Given the description of an element on the screen output the (x, y) to click on. 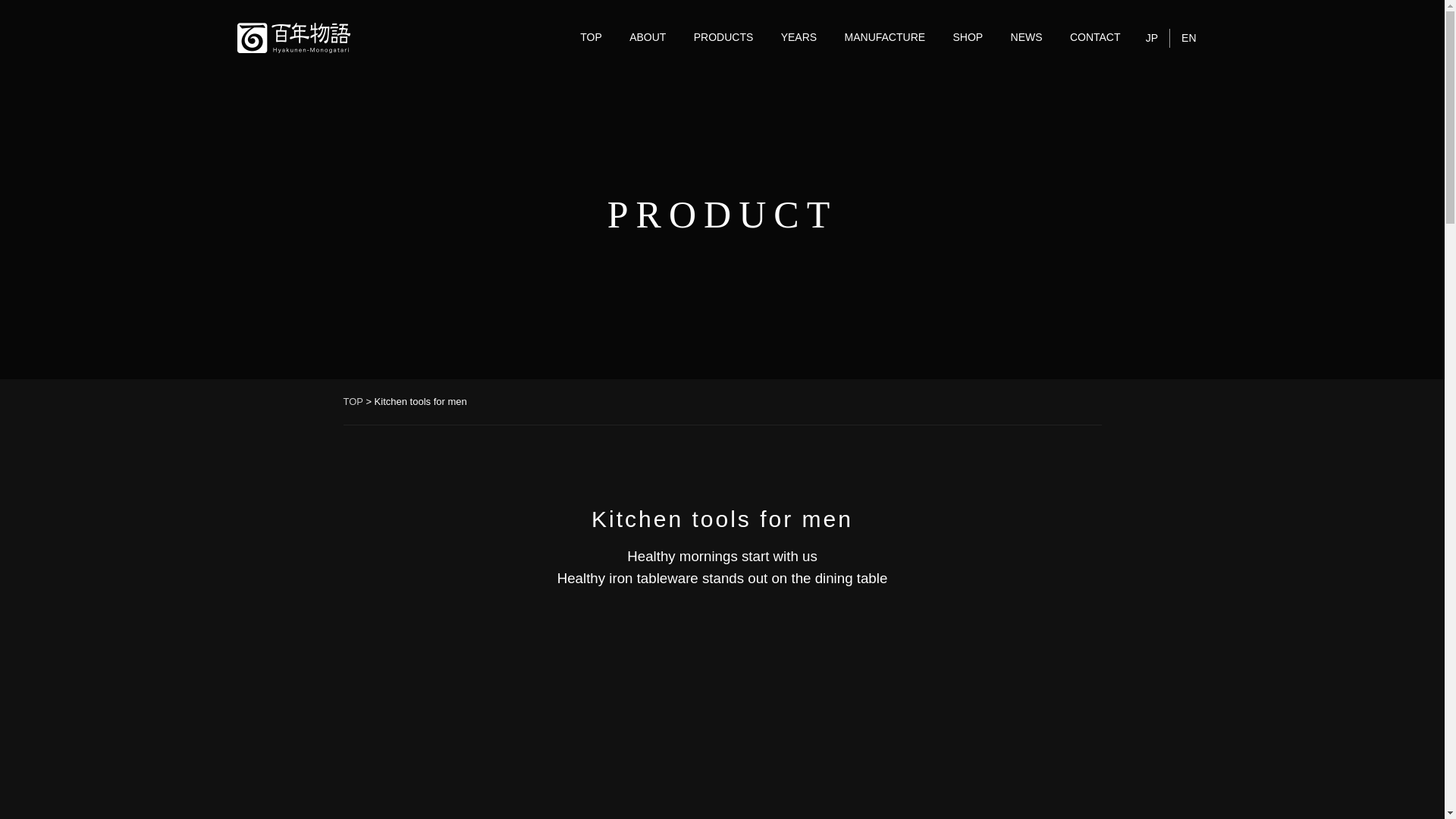
NEWS (1026, 37)
JP (1151, 37)
PRODUCTS (723, 37)
SHOP (967, 37)
TOP (352, 401)
ABOUT (647, 37)
MANUFACTURE (885, 37)
TOP (590, 37)
EN (1188, 37)
CONTACT (1095, 37)
